Given the description of an element on the screen output the (x, y) to click on. 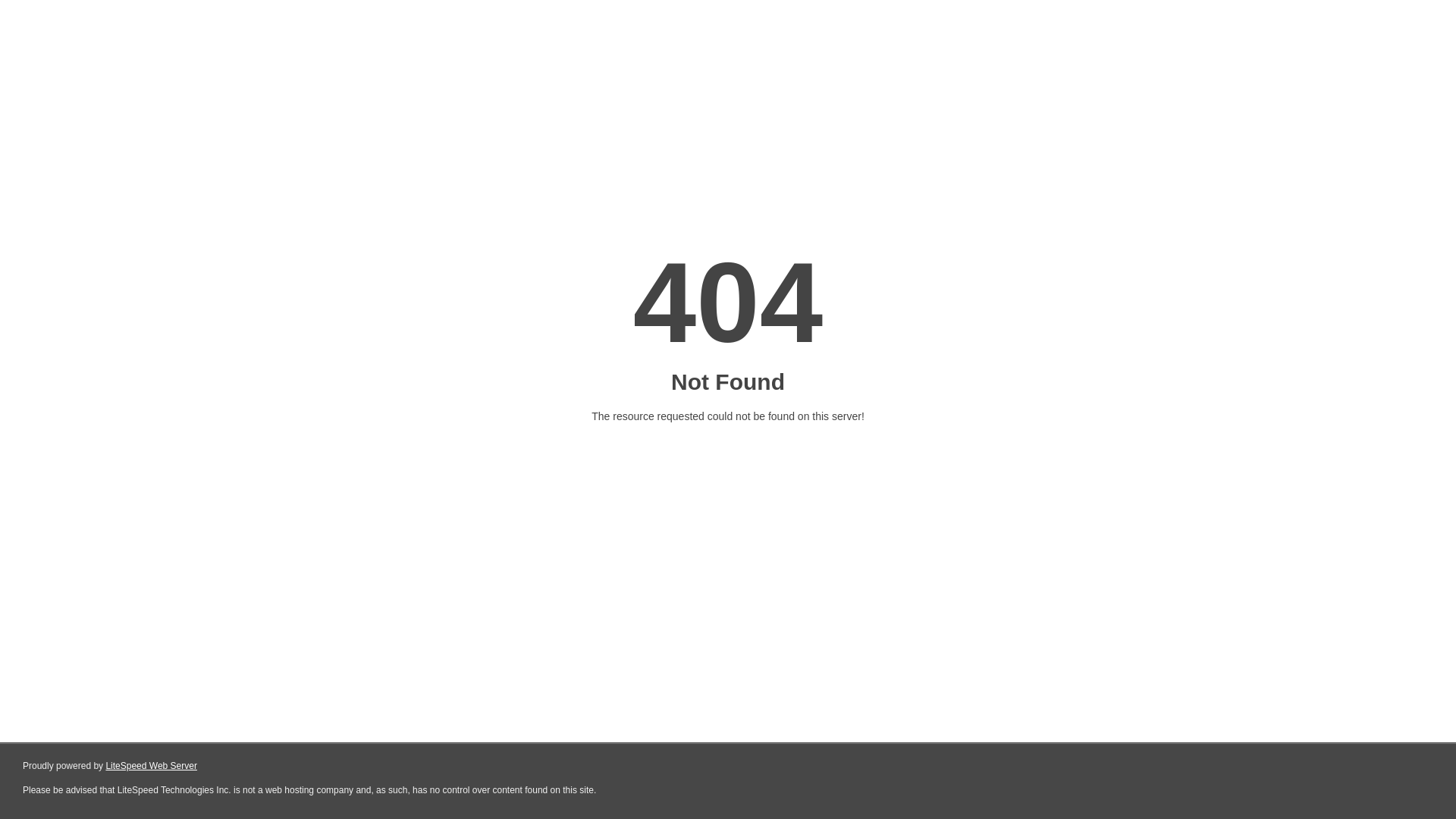
LiteSpeed Web Server Element type: text (151, 765)
